Given the description of an element on the screen output the (x, y) to click on. 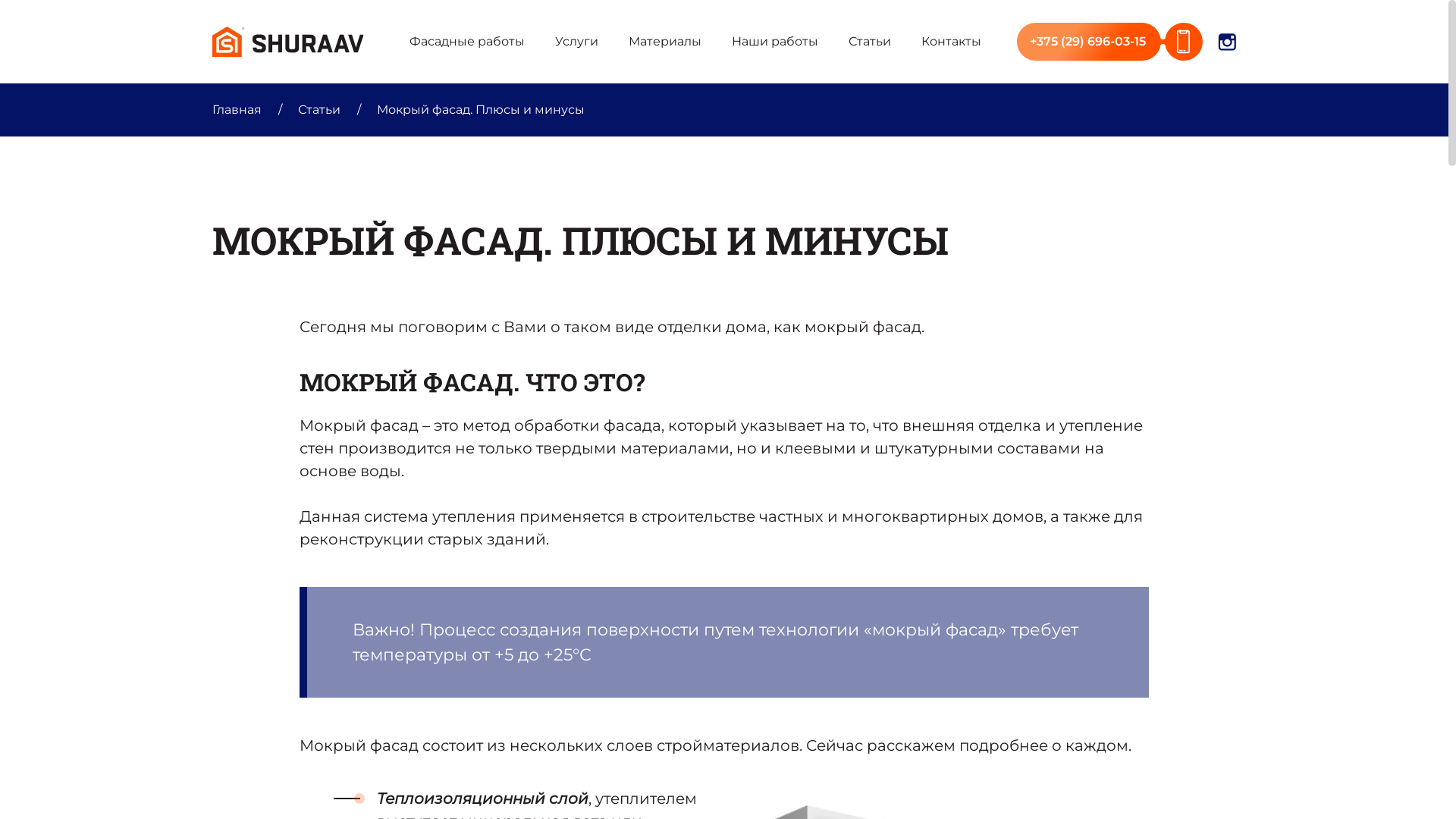
+375 (29) 696-03-15 Element type: text (1109, 41)
